Given the description of an element on the screen output the (x, y) to click on. 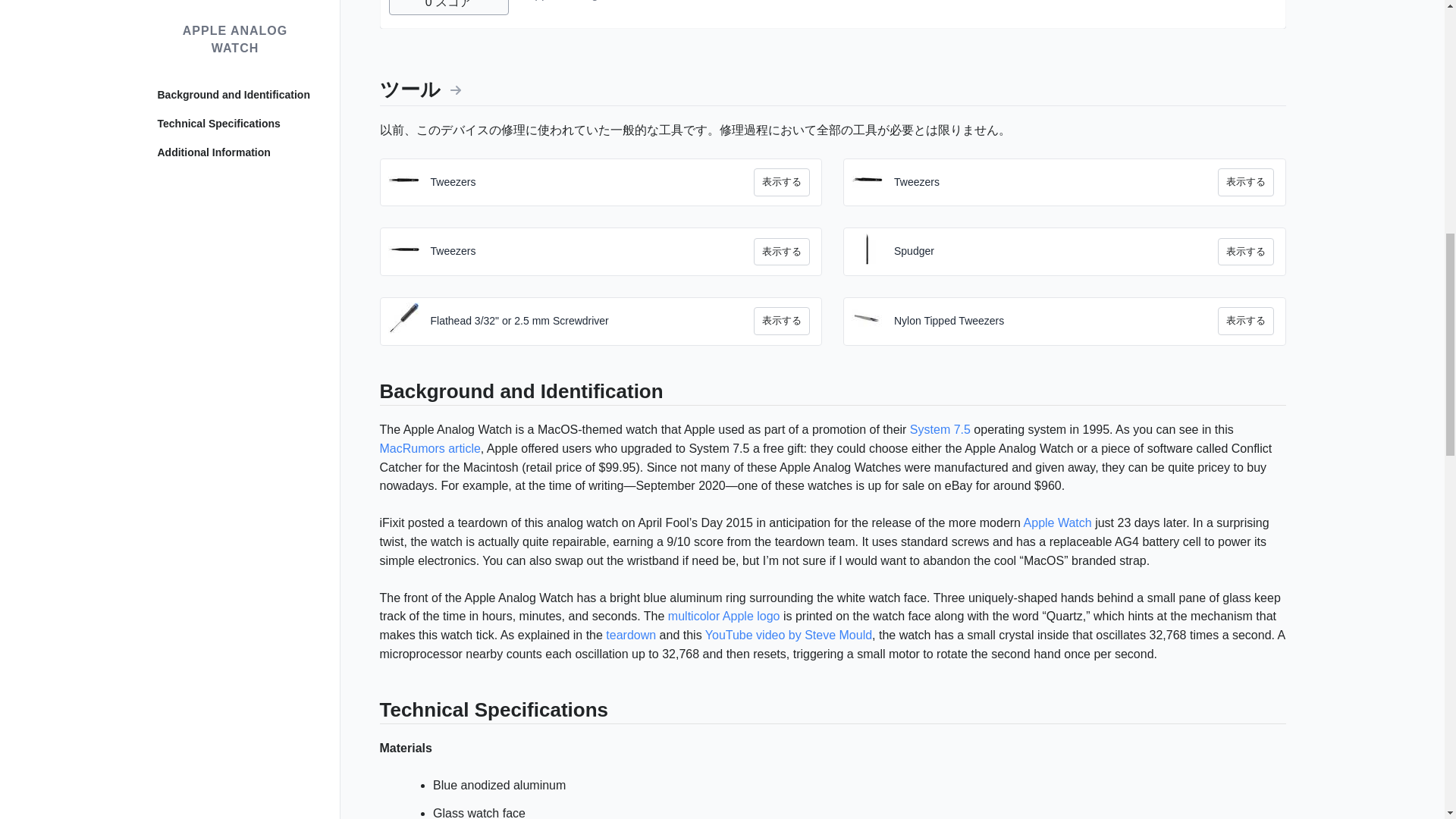
Spudger (1055, 251)
Tweezers (592, 251)
Tweezers (1055, 182)
Tweezers (592, 182)
Nylon Tipped Tweezers (1055, 321)
